Given the description of an element on the screen output the (x, y) to click on. 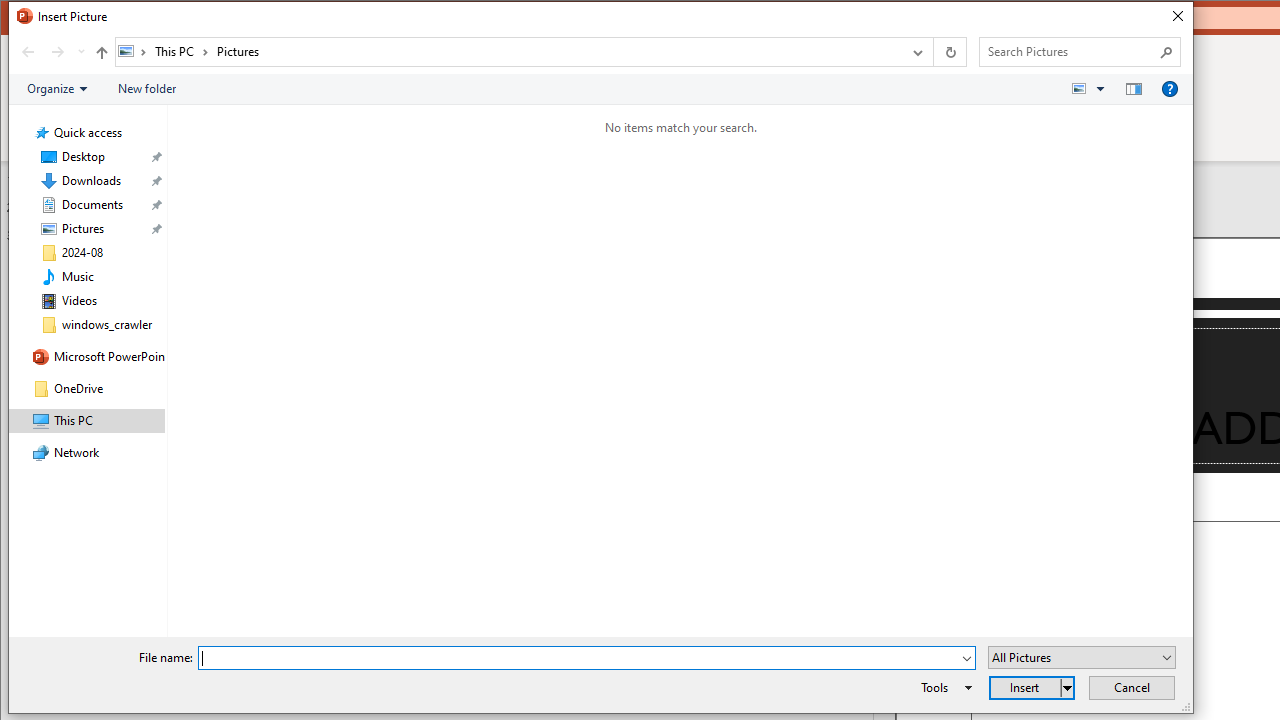
Search (1166, 51)
Tools (943, 687)
Files of type: (1082, 656)
File name: (586, 657)
